Given the description of an element on the screen output the (x, y) to click on. 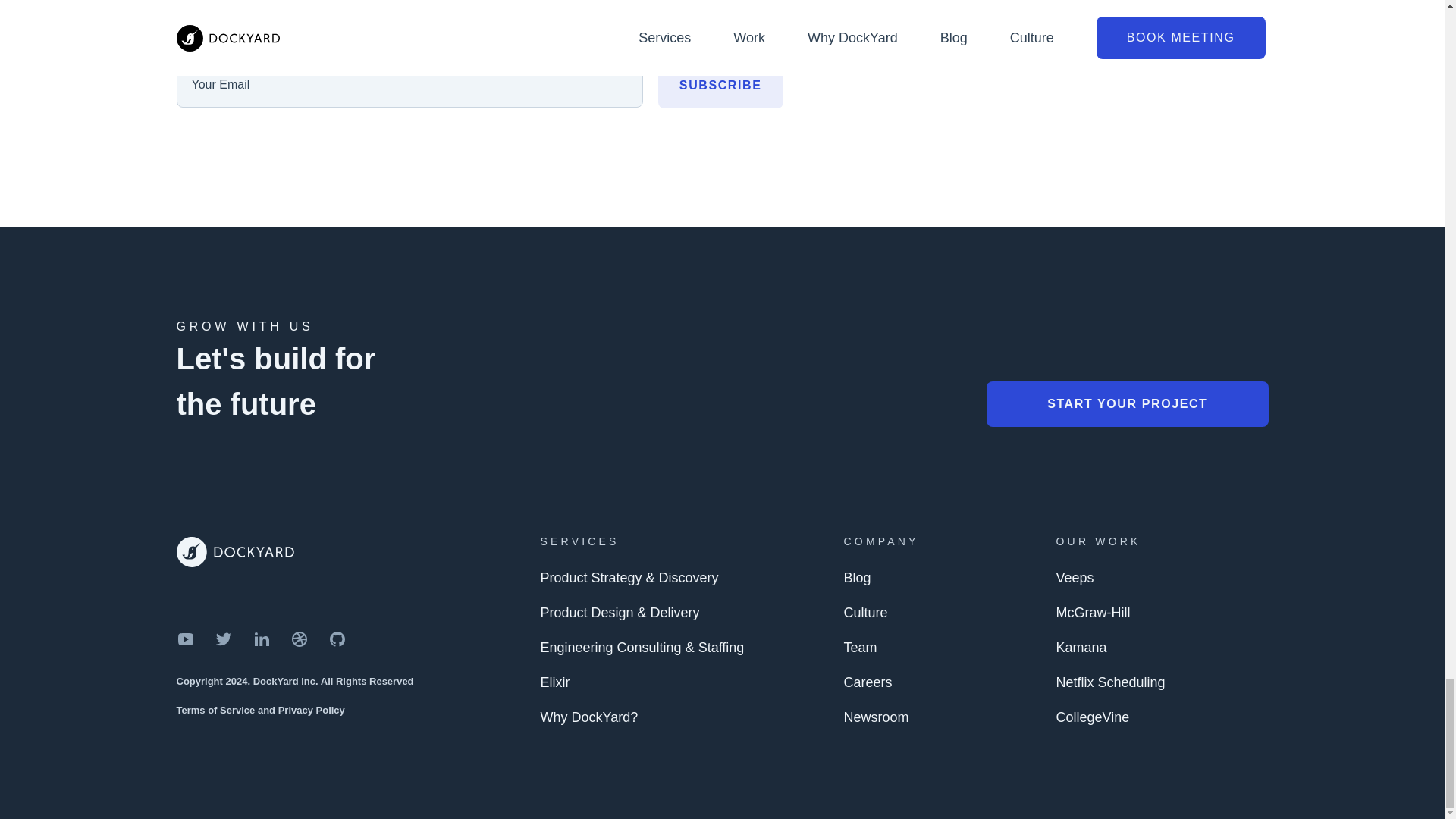
Blog (857, 577)
Careers (868, 682)
Newsroom (876, 717)
Elixir (554, 682)
Culture (865, 612)
SERVICES (579, 541)
CollegeVine (1092, 717)
OUR WORK (1098, 541)
START YOUR PROJECT (1127, 403)
SUBSCRIBE (720, 85)
Why DockYard? (588, 717)
Veeps (1074, 577)
Team (860, 646)
McGraw-Hill (1092, 612)
Kamana (1080, 646)
